Given the description of an element on the screen output the (x, y) to click on. 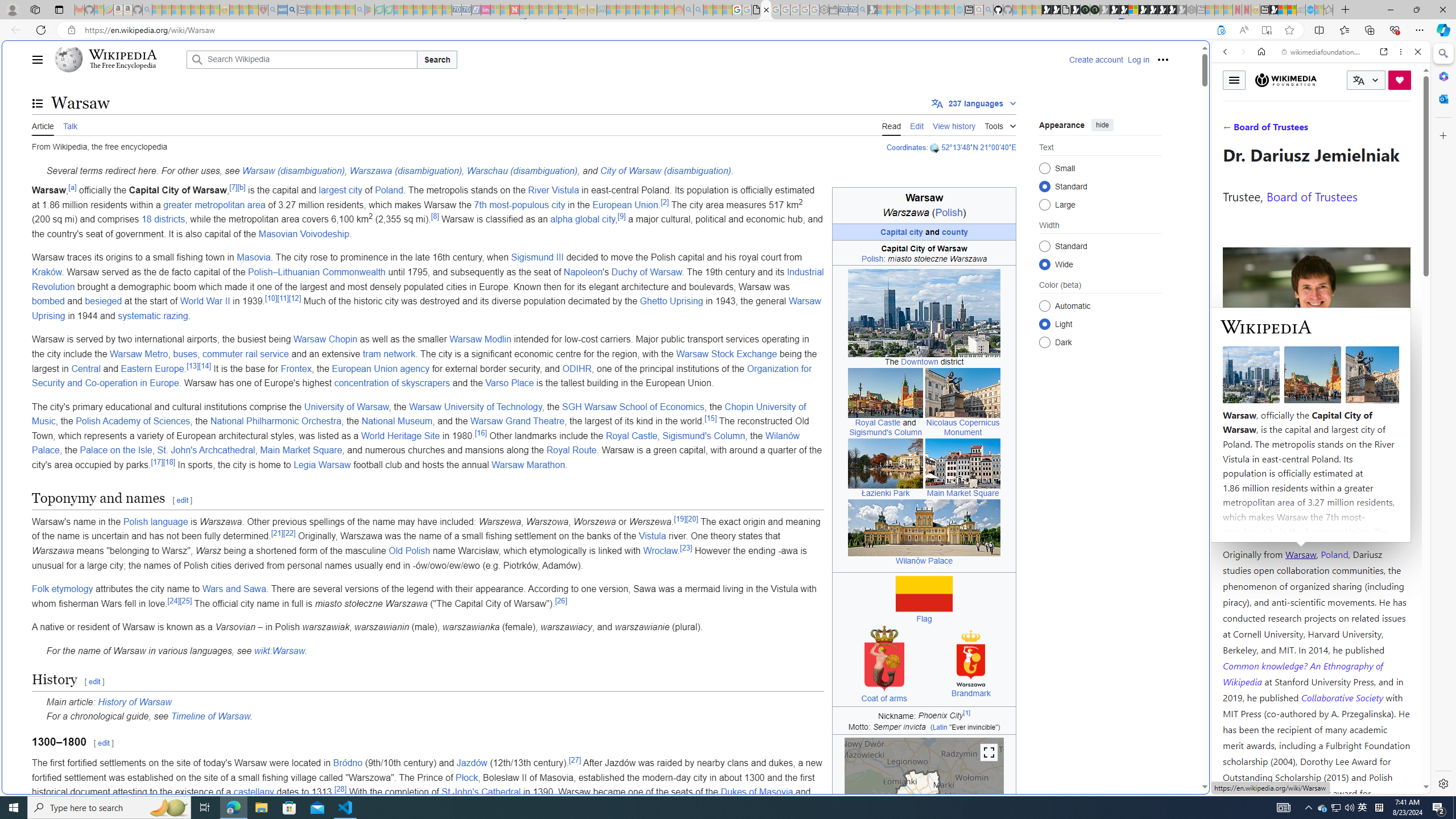
[16] (480, 432)
Staszic Palace and Nicolaus Copernicus Monument (963, 392)
Harvard University (1259, 526)
Flag of Warsaw (924, 594)
